Given the description of an element on the screen output the (x, y) to click on. 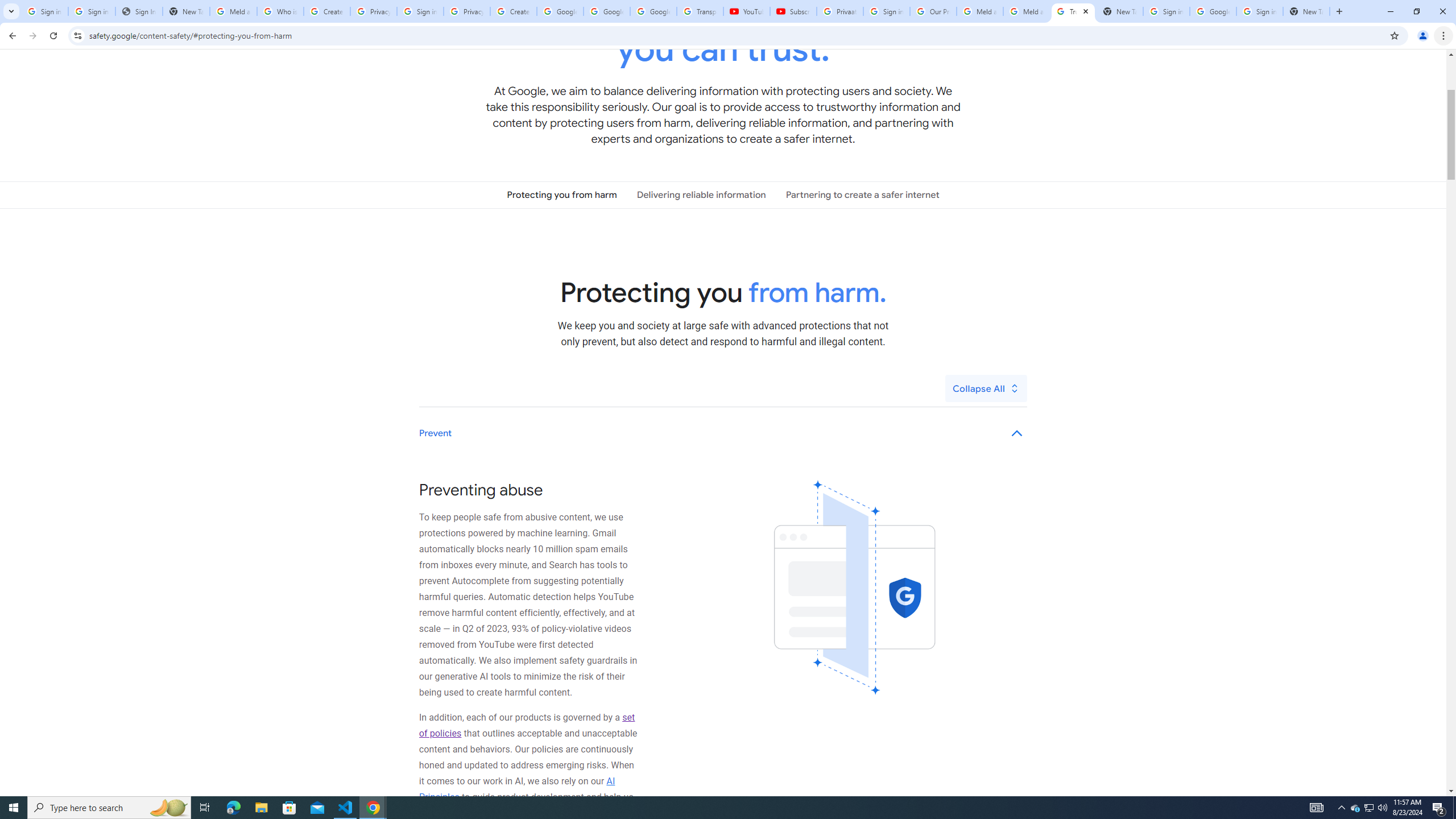
Partnering to create a safer internet (862, 194)
New Tab (1306, 11)
Google Account (652, 11)
YouTube (745, 11)
Who is my administrator? - Google Account Help (279, 11)
Google Cybersecurity Innovations - Google Safety Center (1213, 11)
AI Principles (517, 788)
Sign in - Google Accounts (1259, 11)
